Given the description of an element on the screen output the (x, y) to click on. 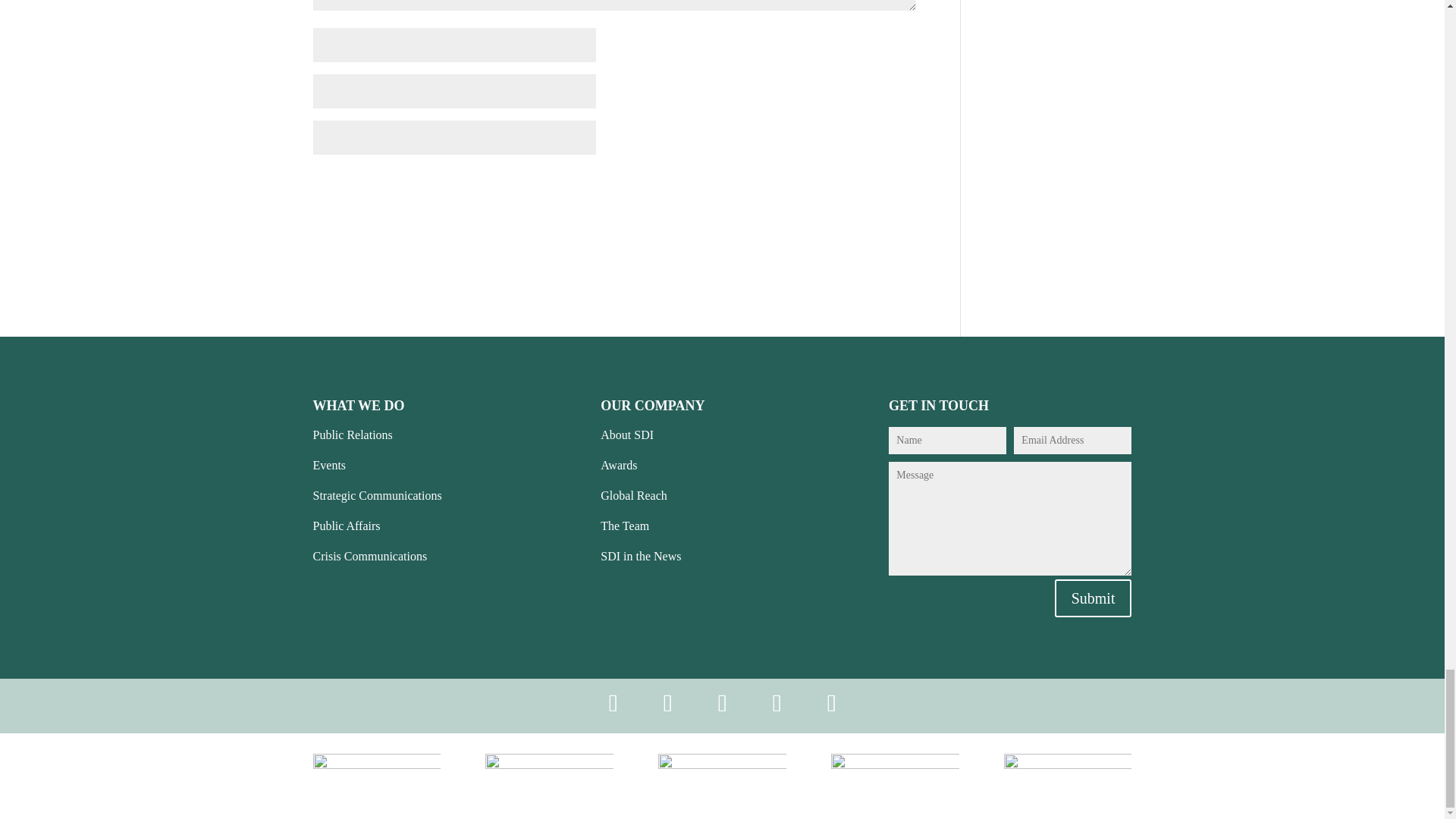
Follow on LinkedIn (721, 702)
Submit Comment (844, 185)
Follow on X (667, 702)
Follow on Facebook (612, 702)
Follow on Instagram (776, 702)
Follow on Youtube (831, 702)
